Given the description of an element on the screen output the (x, y) to click on. 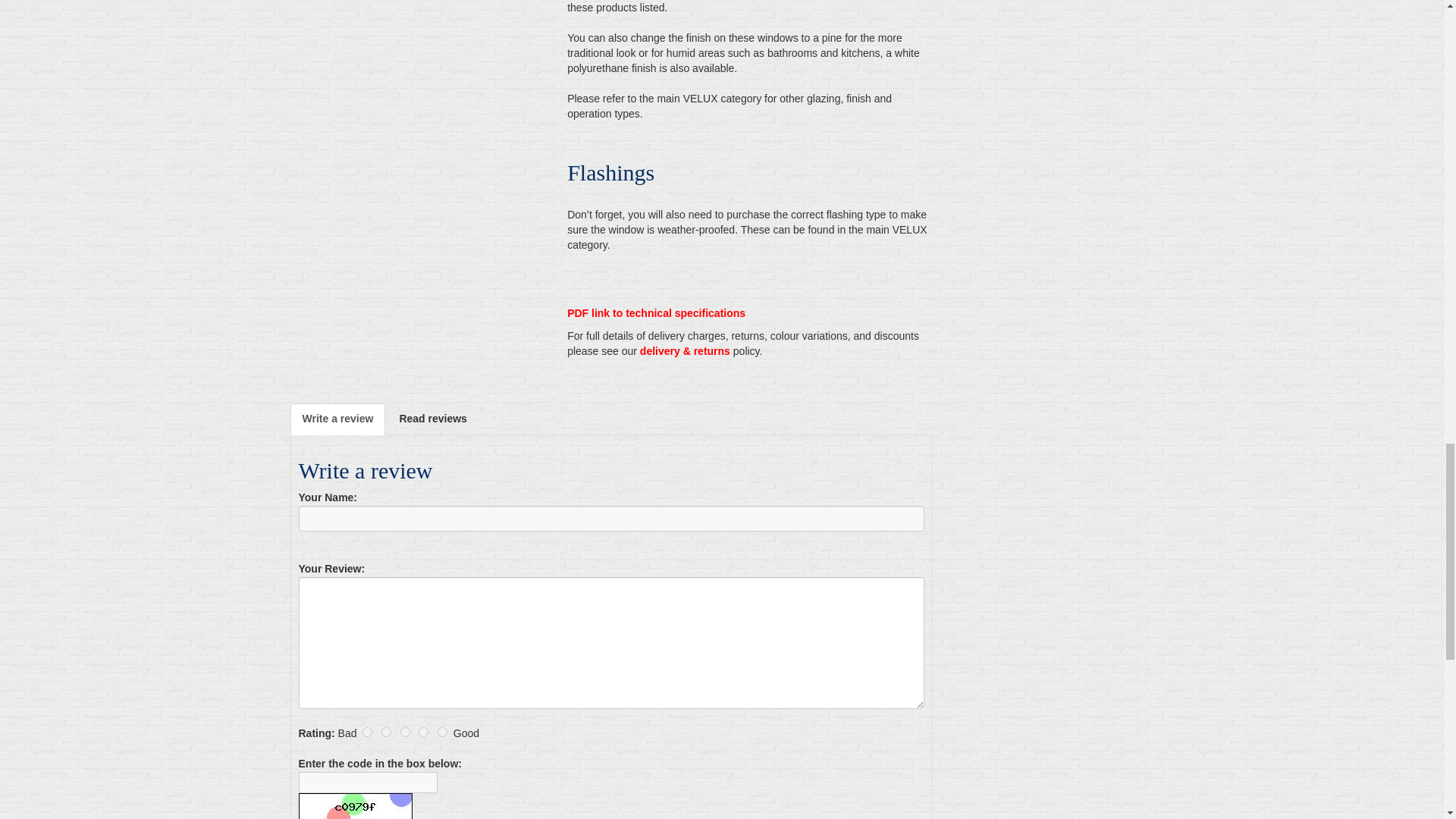
4 (423, 732)
2 (386, 732)
5 (442, 732)
3 (405, 732)
1 (367, 732)
